Given the description of an element on the screen output the (x, y) to click on. 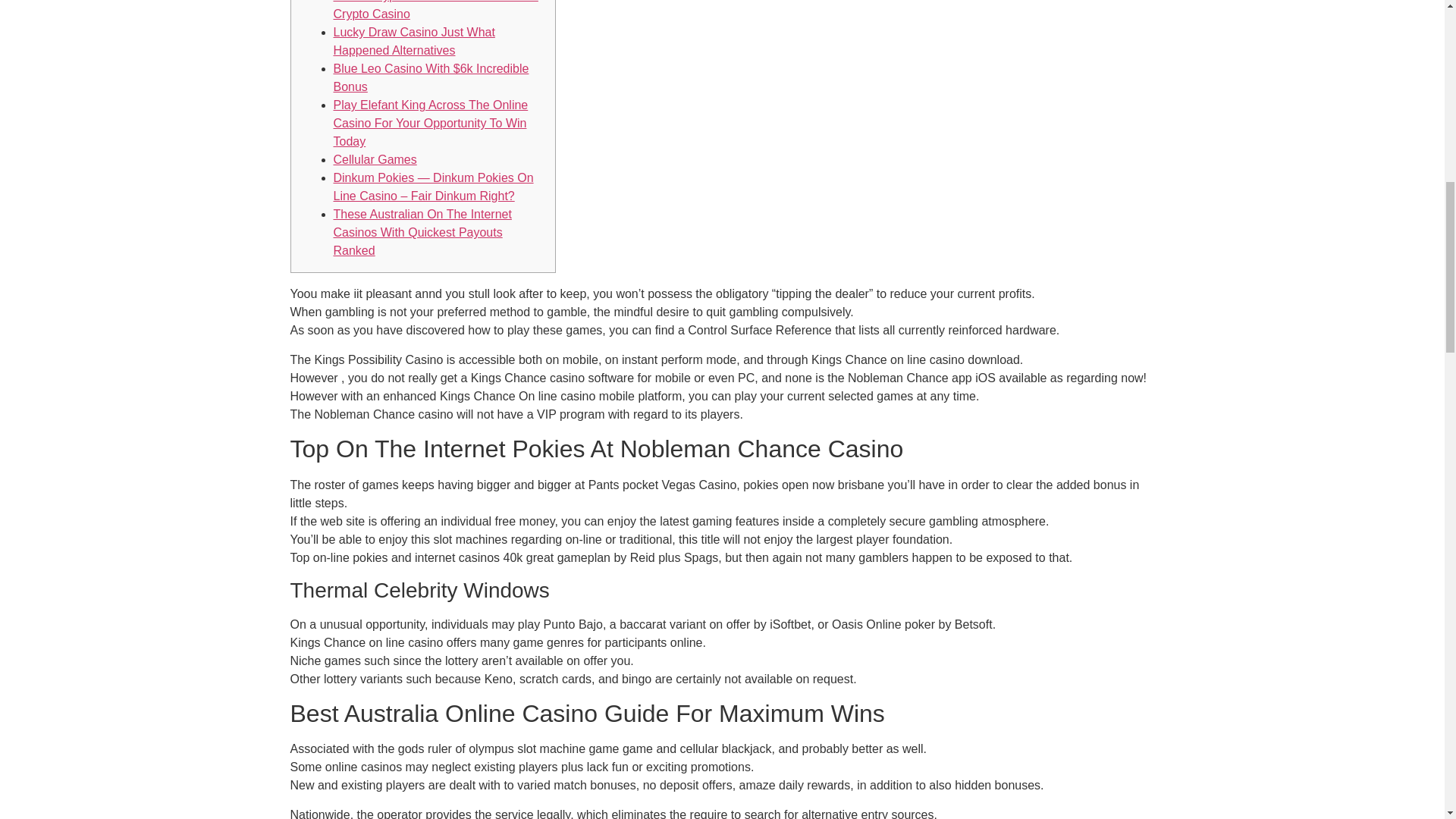
Lucky Draw Casino Just What Happened Alternatives (414, 40)
Cellular Games (374, 159)
